Given the description of an element on the screen output the (x, y) to click on. 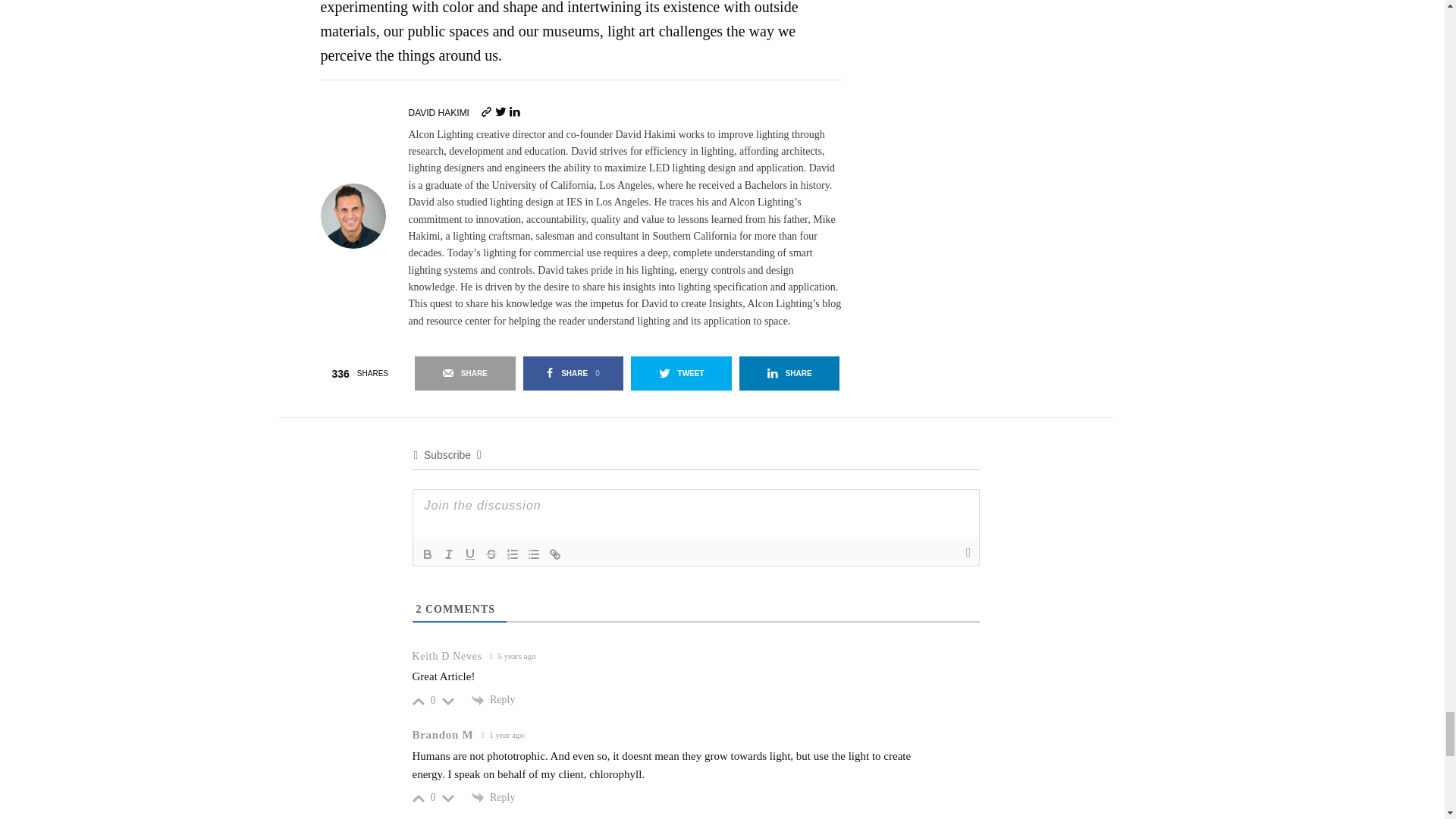
Bold (427, 554)
Italic (449, 554)
Strike (491, 554)
Unordered List (533, 554)
Underline (470, 554)
Ordered List (512, 554)
Link (555, 554)
